Given the description of an element on the screen output the (x, y) to click on. 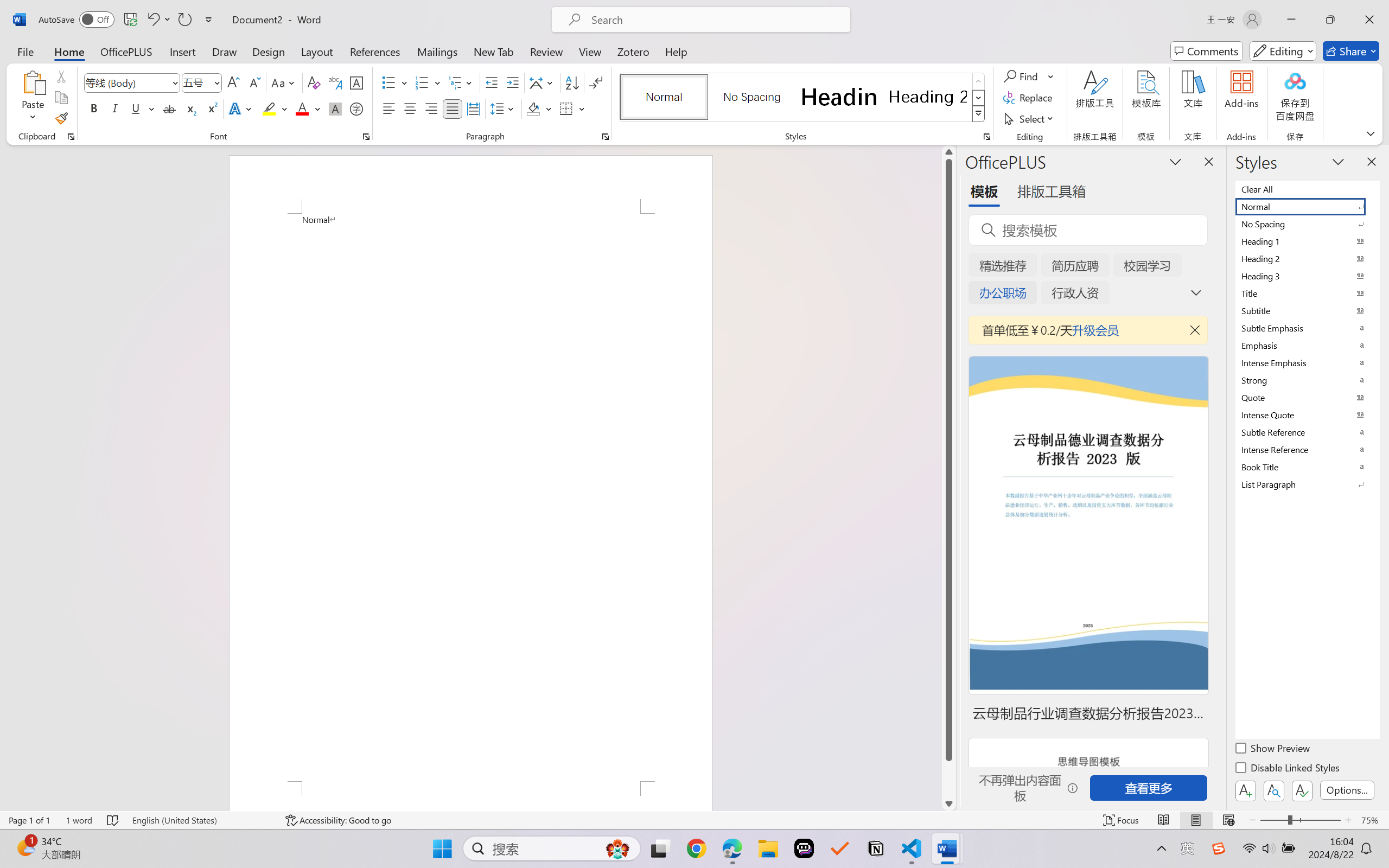
Line up (948, 151)
Save (130, 19)
Page Number Page 1 of 1 (29, 819)
Read Mode (1163, 819)
Heading 2 (927, 96)
New Tab (493, 51)
Language English (United States) (201, 819)
AutoSave (76, 19)
OfficePLUS (126, 51)
Close (1369, 19)
